Given the description of an element on the screen output the (x, y) to click on. 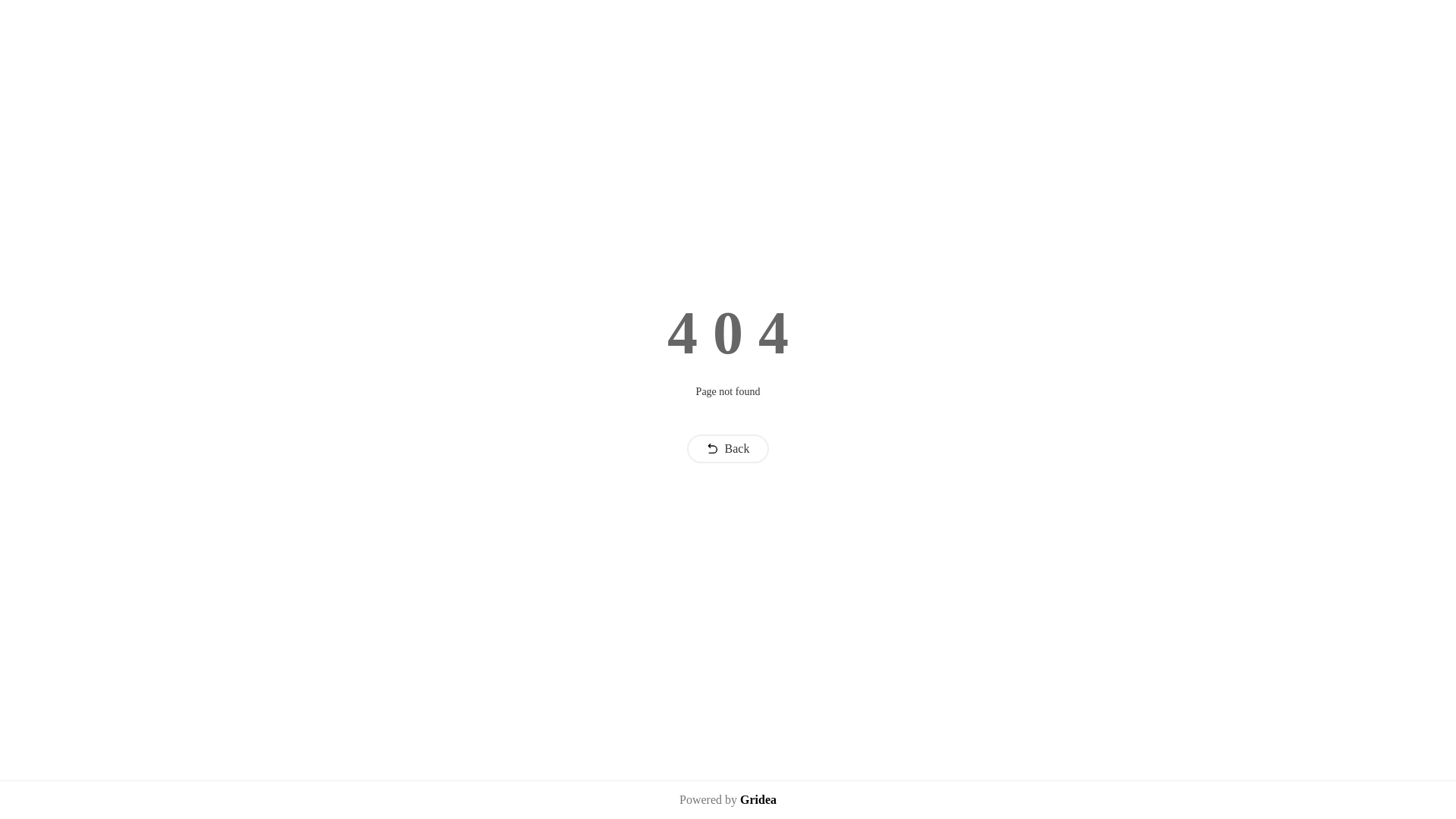
Back Element type: text (728, 448)
Gridea Element type: text (758, 799)
